Given the description of an element on the screen output the (x, y) to click on. 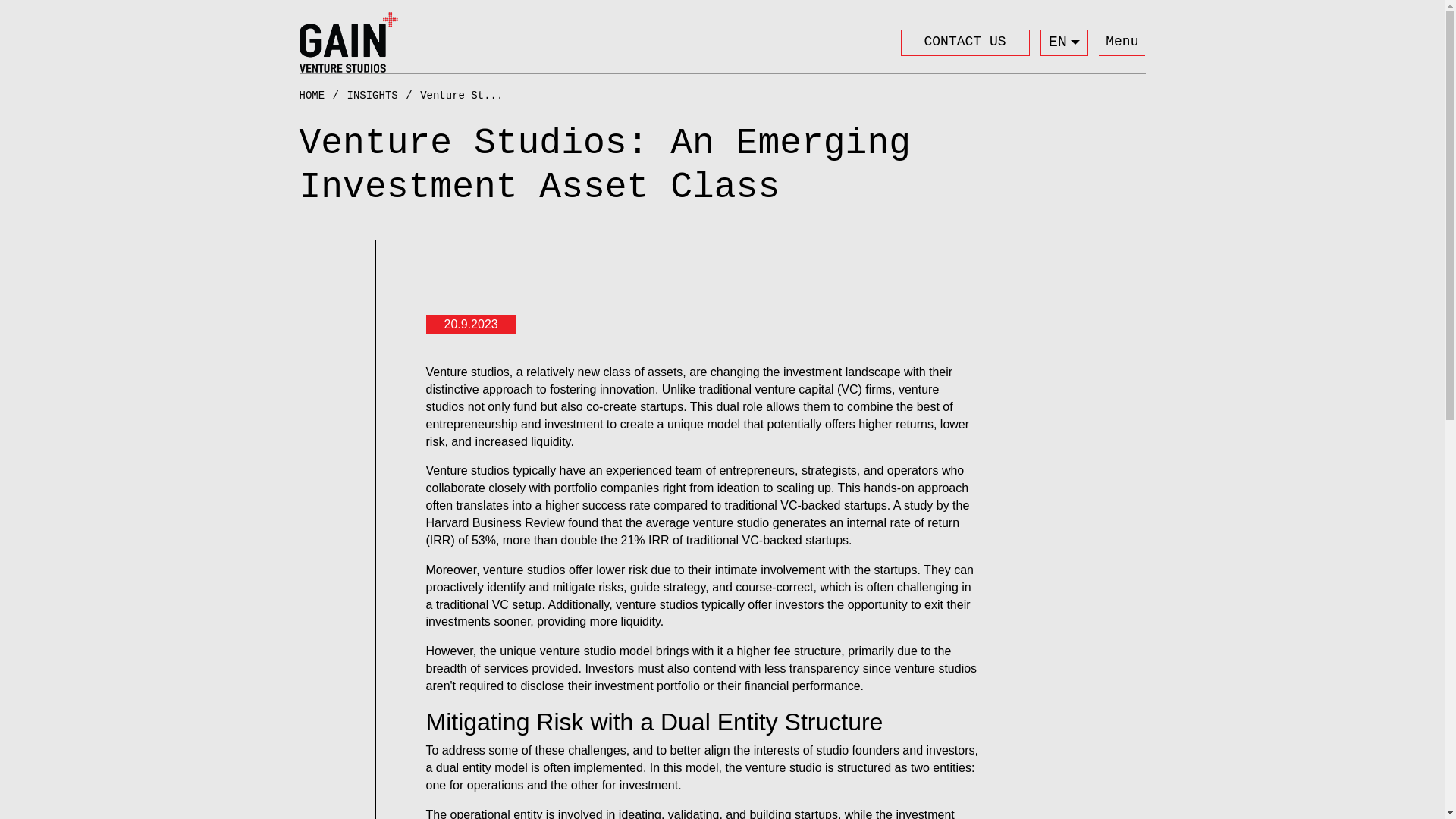
INSIGHTS (383, 95)
EN (1065, 41)
Menu (1121, 41)
HOME (322, 95)
CONTACT US (964, 42)
Venture St... (461, 95)
